Given the description of an element on the screen output the (x, y) to click on. 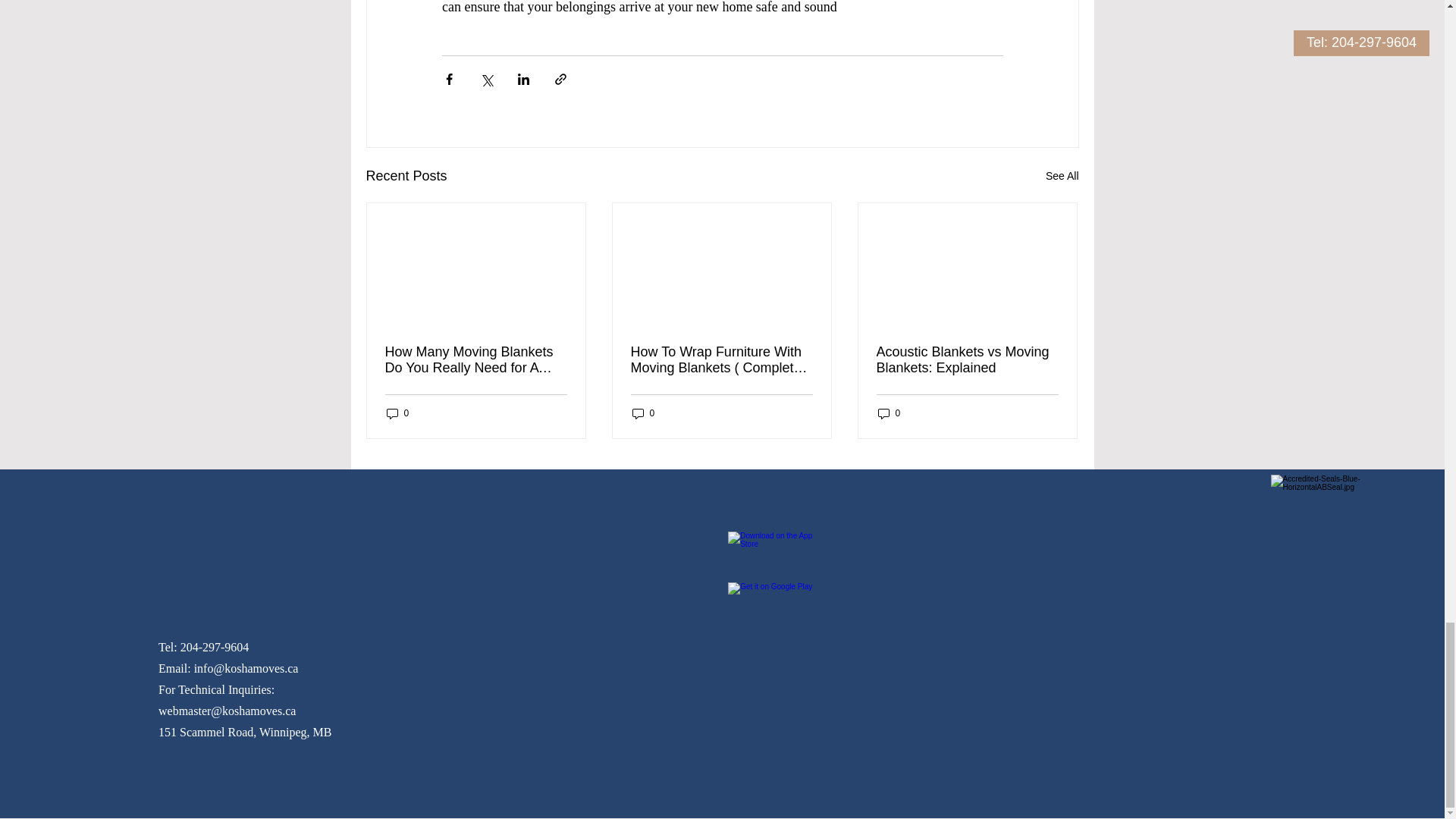
0 (643, 413)
0 (889, 413)
Acoustic Blankets vs Moving Blankets: Explained (967, 359)
0 (397, 413)
See All (1061, 176)
